Given the description of an element on the screen output the (x, y) to click on. 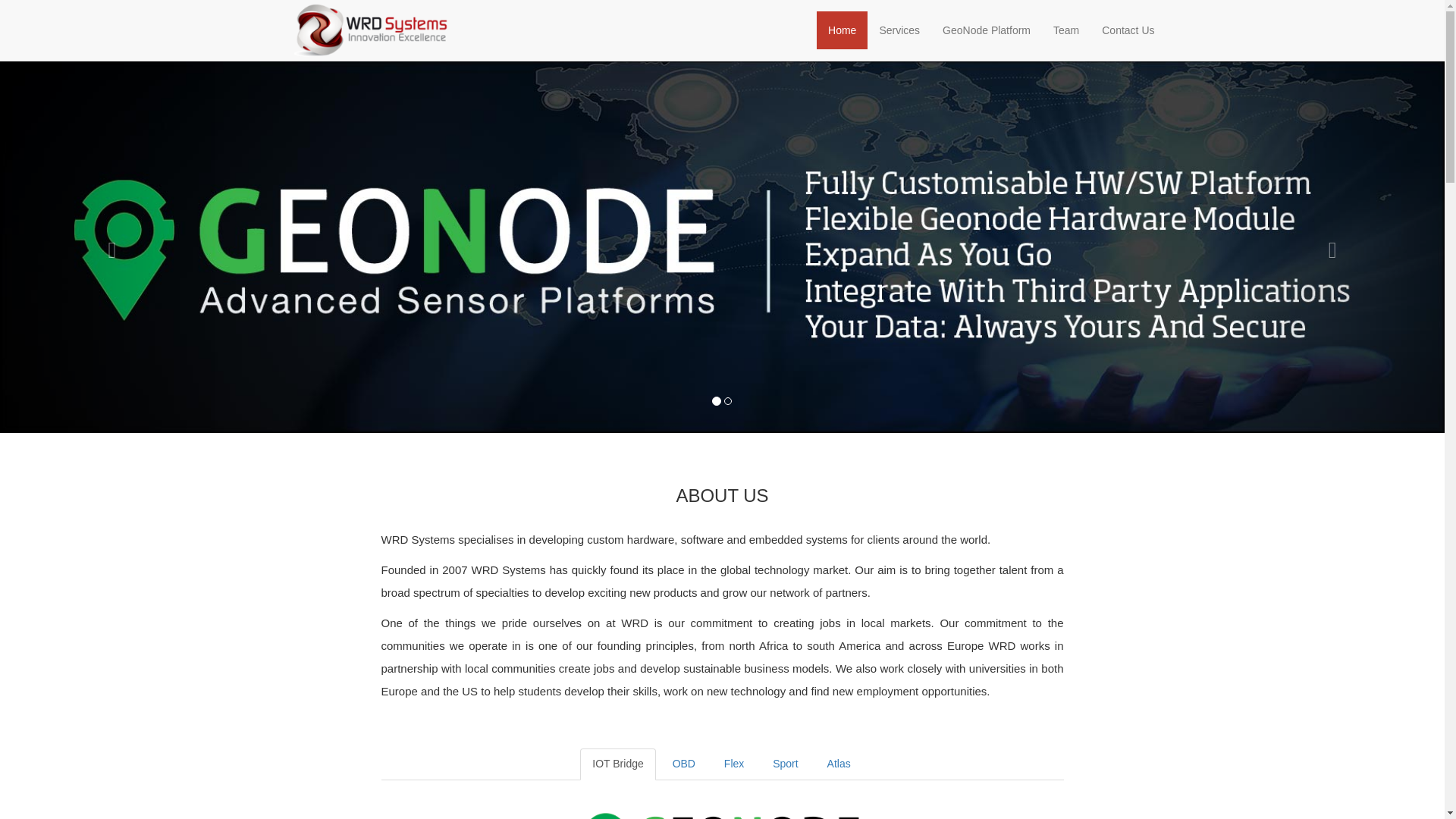
IOT Bridge (617, 764)
OBD (684, 764)
Team (1066, 30)
Home (841, 30)
GeoNode Platform (986, 30)
Flex (733, 764)
Services (899, 30)
Sport (784, 764)
Contact Us (1128, 30)
Atlas (839, 764)
